Given the description of an element on the screen output the (x, y) to click on. 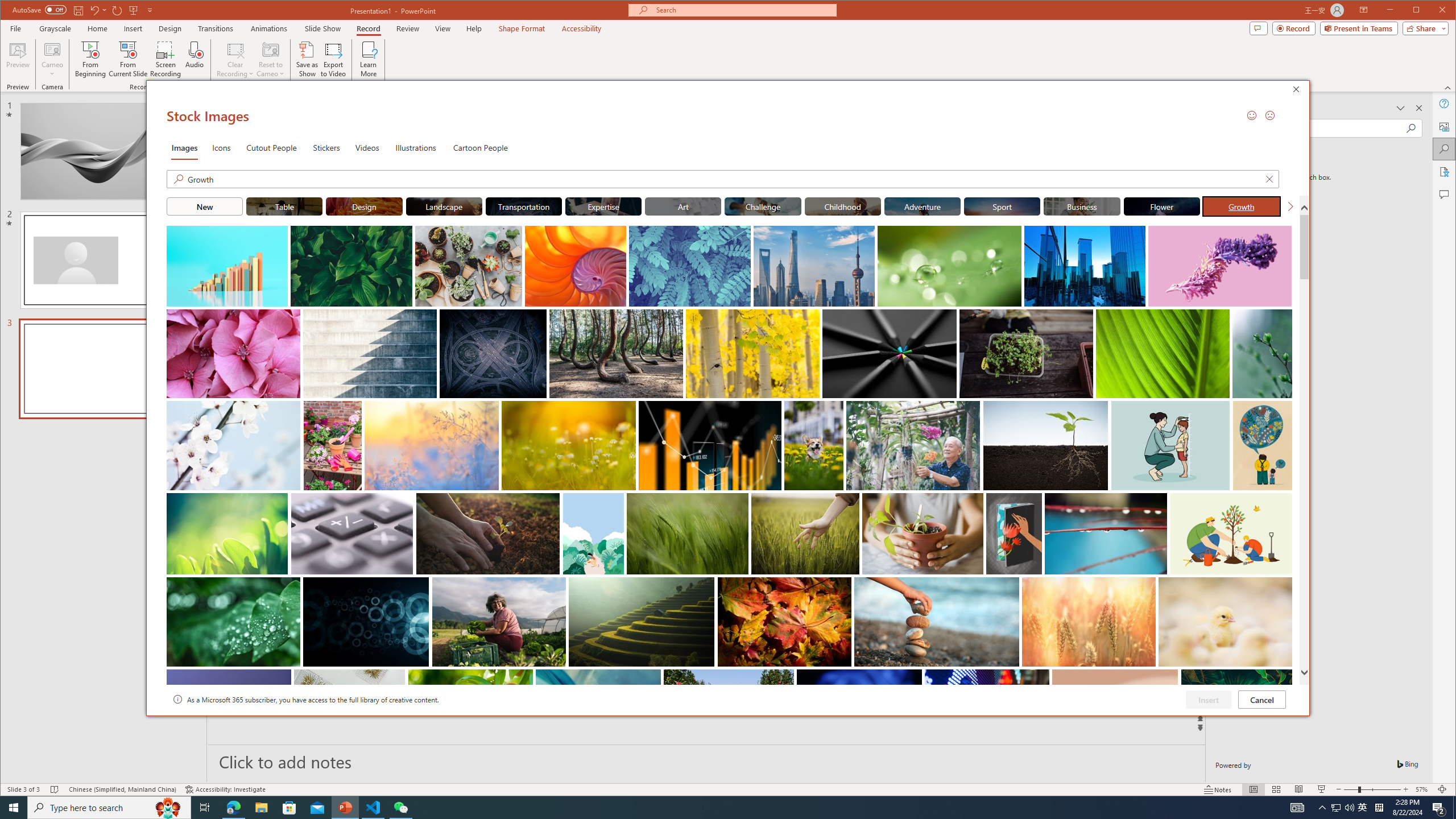
Animations (269, 28)
Zoom to Fit  (1441, 789)
Ribbon Display Options (1364, 9)
Microsoft Store (289, 807)
Cameo (52, 48)
"New" Stock Images. (204, 206)
Icons (220, 147)
Close (1299, 90)
